Given the description of an element on the screen output the (x, y) to click on. 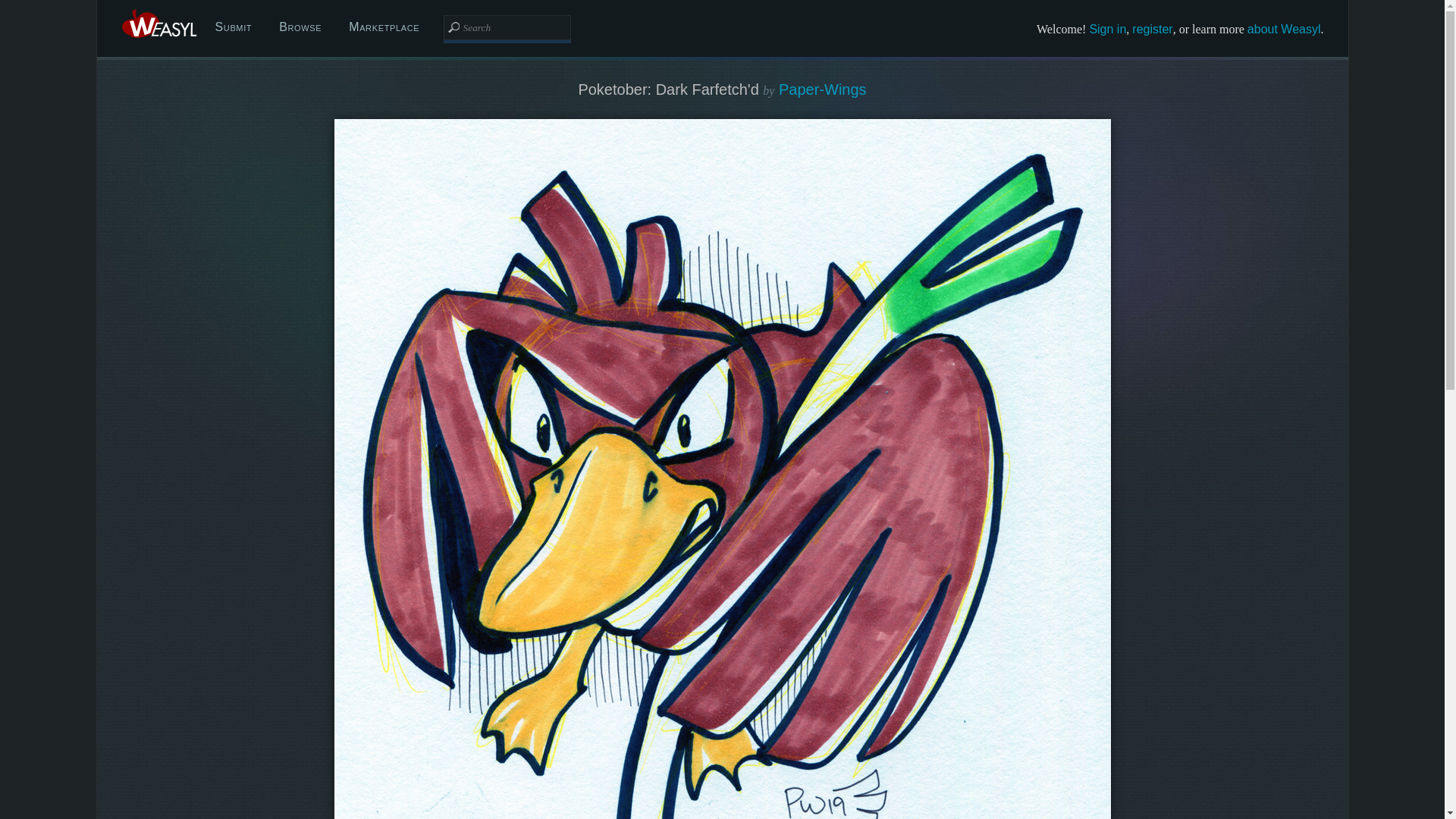
about Weasyl (1283, 29)
register (1152, 29)
Search Weasyl (507, 27)
Submit (233, 27)
Sign in (1107, 29)
Browse (299, 27)
Marketplace (383, 27)
Paper-Wings (822, 89)
